Given the description of an element on the screen output the (x, y) to click on. 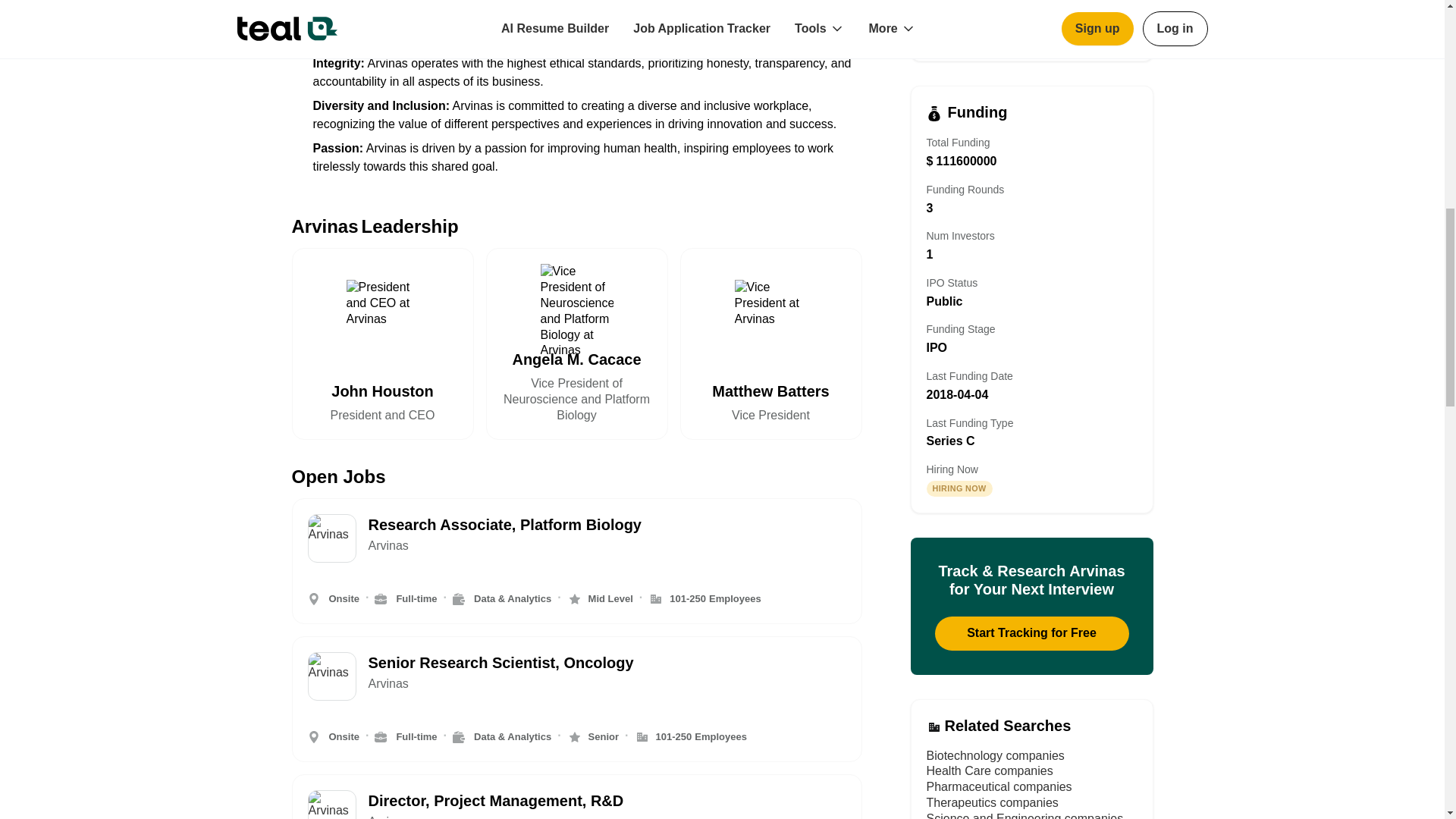
Research Associate, Platform Biology (606, 524)
Arvinas (606, 546)
Senior Research Scientist, Oncology (606, 662)
Arvinas (606, 684)
